Given the description of an element on the screen output the (x, y) to click on. 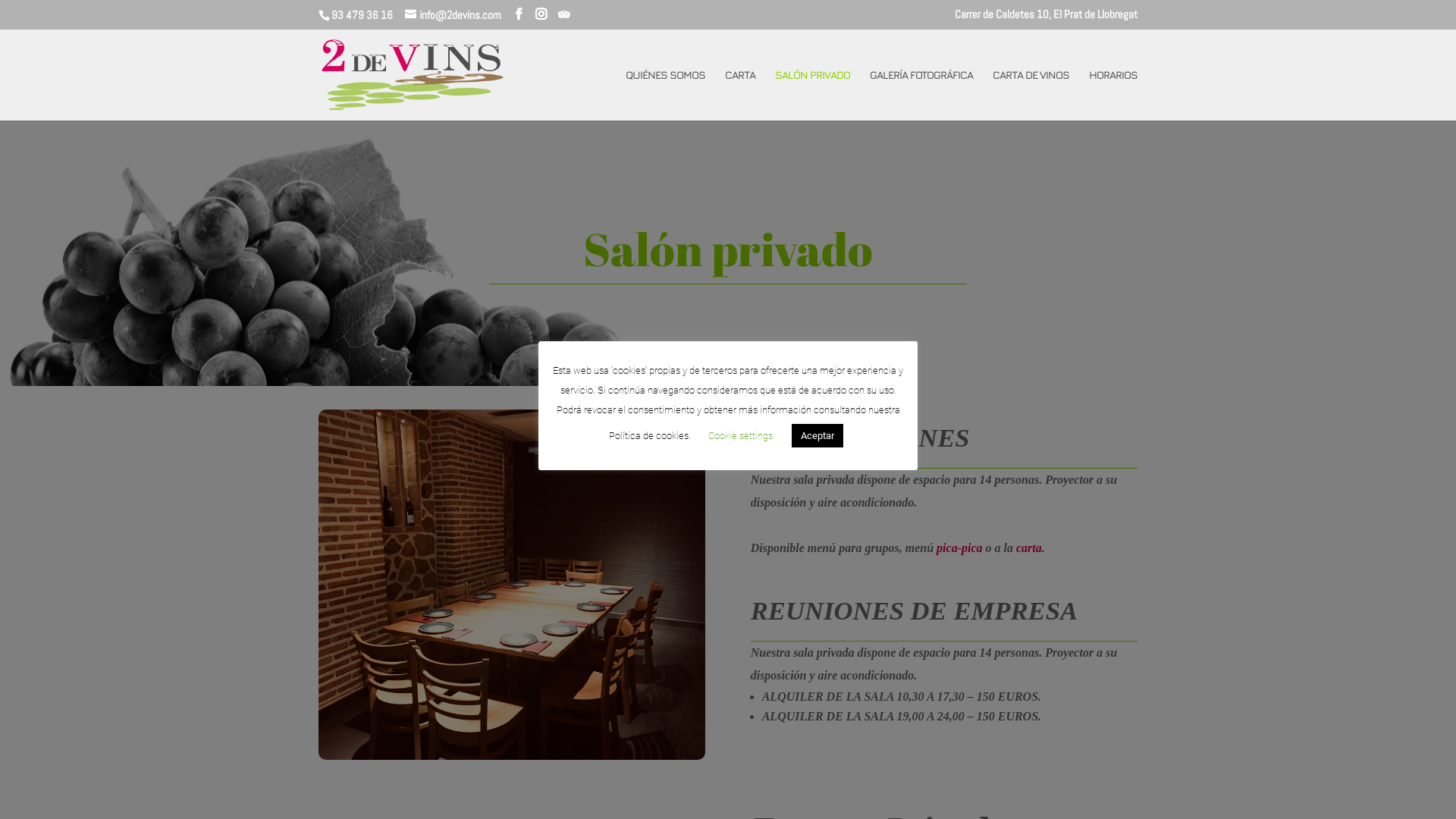
CARTA DE VINOS Element type: text (1030, 94)
info@2devins.com Element type: text (452, 14)
carta Element type: text (1028, 547)
Cookie settings Element type: text (740, 435)
Carrer de Caldetes 10, El Prat de Llobregat Element type: text (1045, 18)
HORARIOS Element type: text (1112, 94)
CARTA Element type: text (739, 94)
pica-pica Element type: text (959, 547)
Aceptar Element type: text (817, 435)
